Given the description of an element on the screen output the (x, y) to click on. 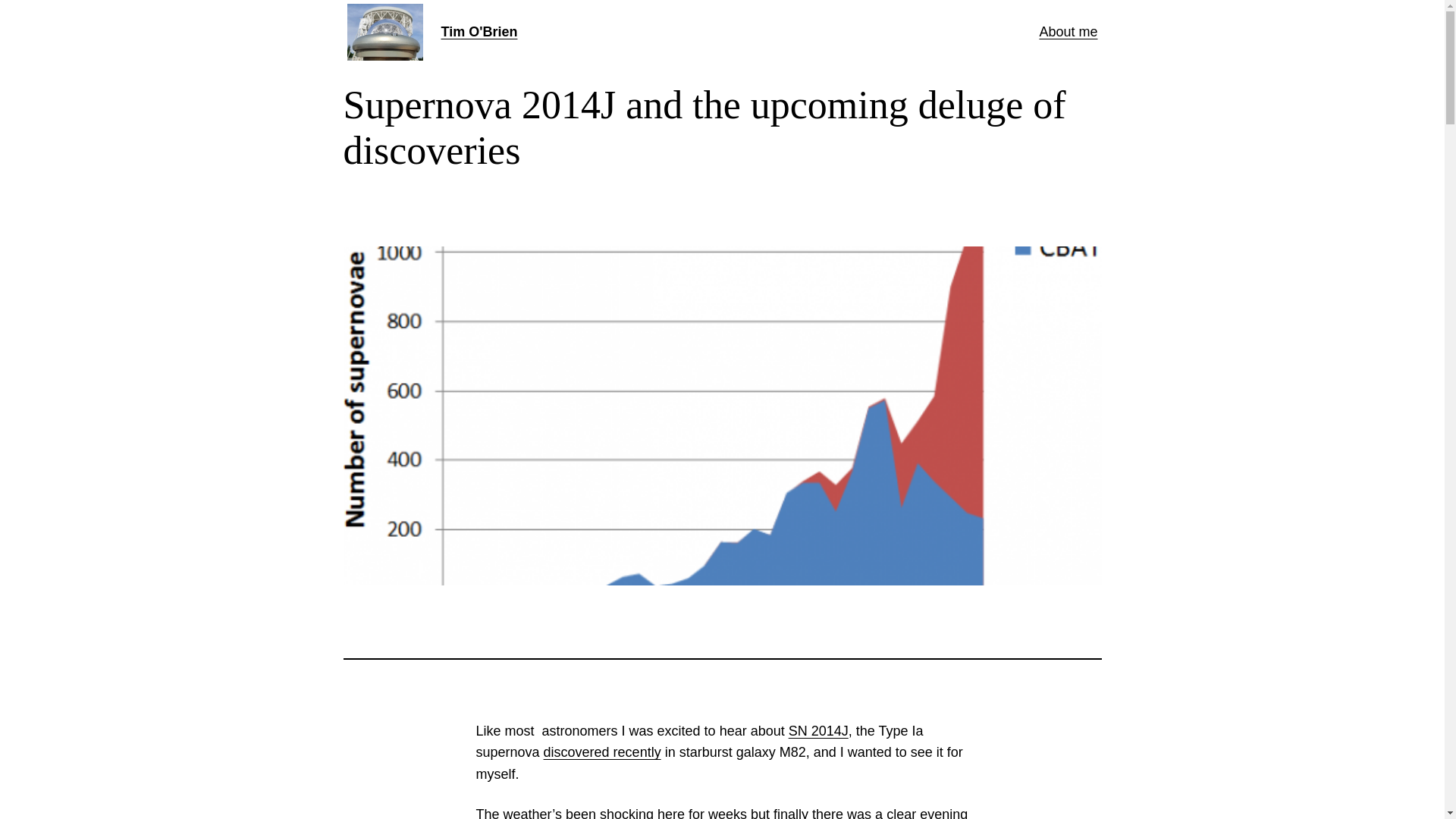
About me (1068, 32)
discovered recently (602, 752)
Tim O'Brien (479, 31)
SN 2014J (818, 730)
